Given the description of an element on the screen output the (x, y) to click on. 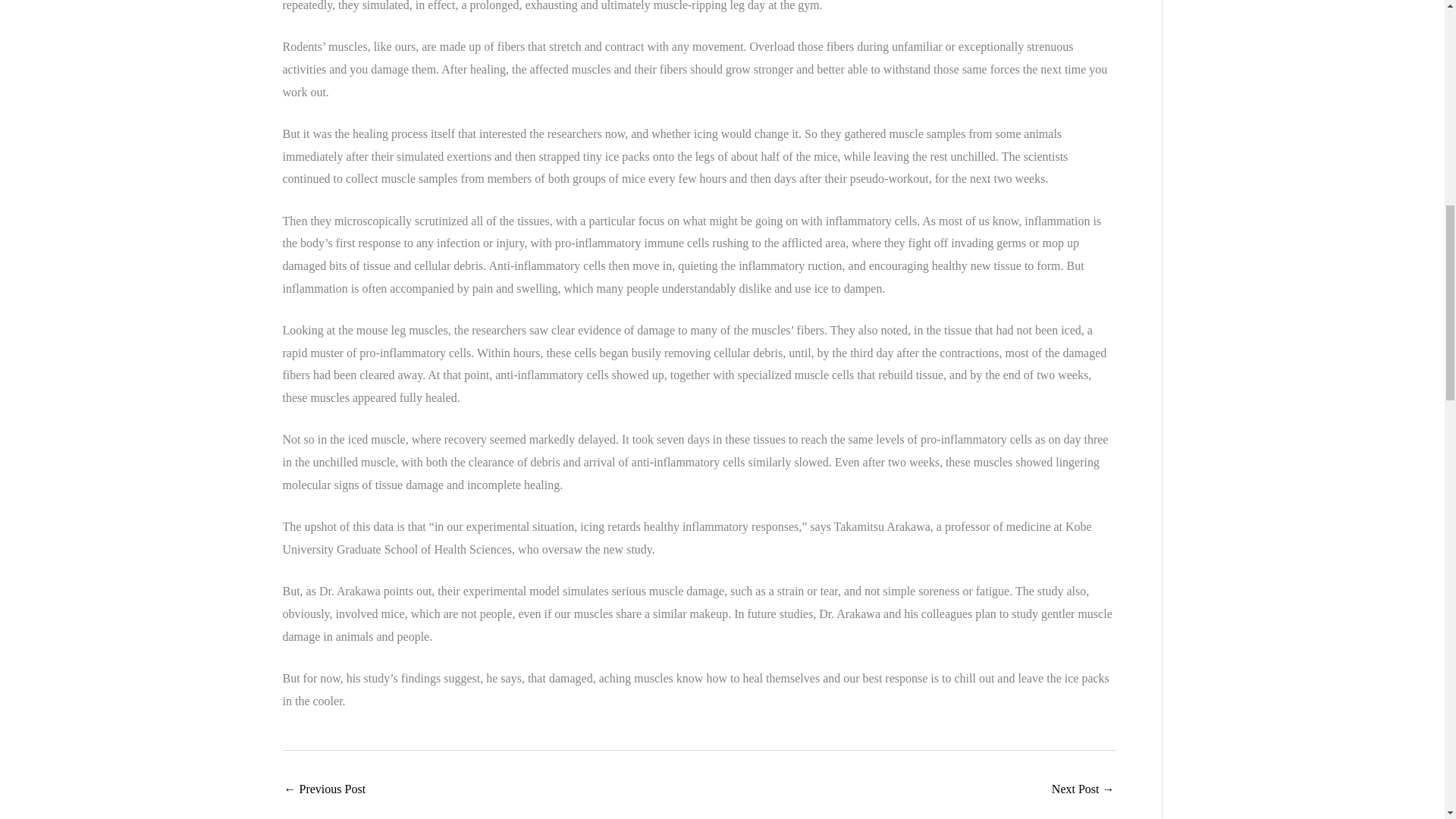
Never get radiation therapy without this seed (1083, 790)
Garlic and Cancer Stem Cells (324, 790)
